Given the description of an element on the screen output the (x, y) to click on. 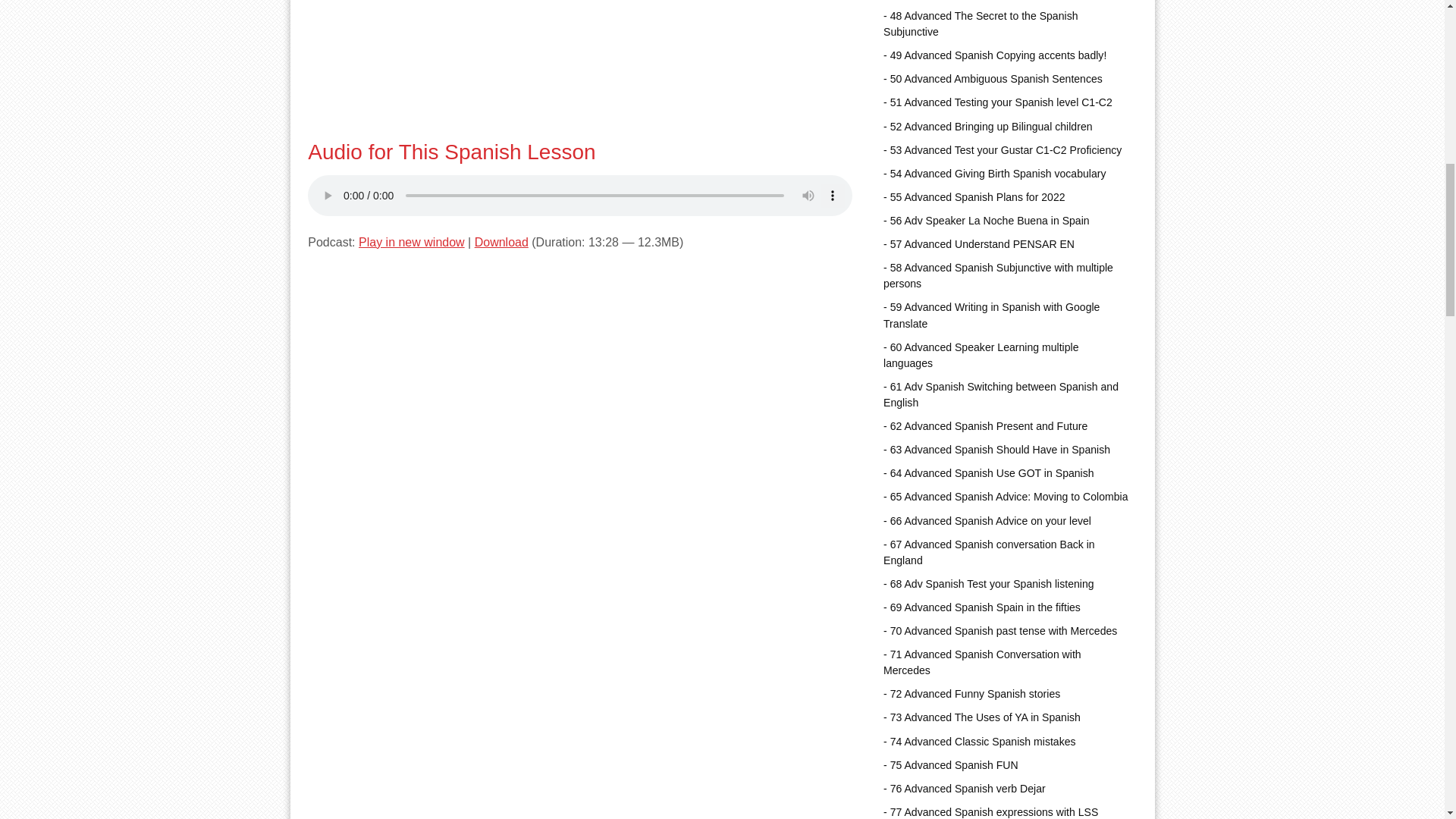
Play in new window (411, 241)
Download (501, 241)
Download (501, 241)
Play in new window (411, 241)
